Given the description of an element on the screen output the (x, y) to click on. 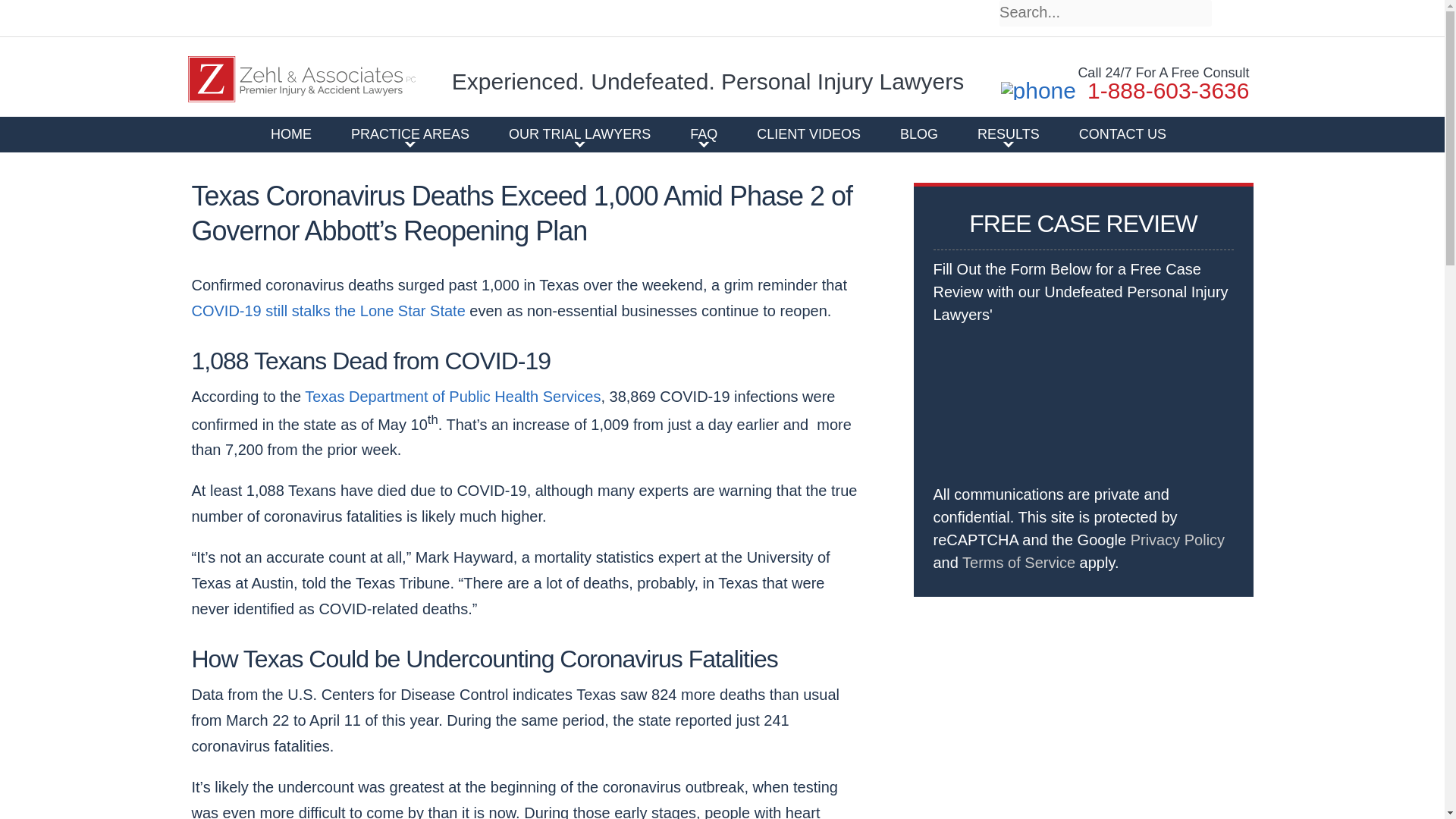
OUR TRIAL LAWYERS (579, 133)
HOME (290, 133)
1-888-603-3636 (1125, 90)
PRACTICE AREAS (409, 133)
